Given the description of an element on the screen output the (x, y) to click on. 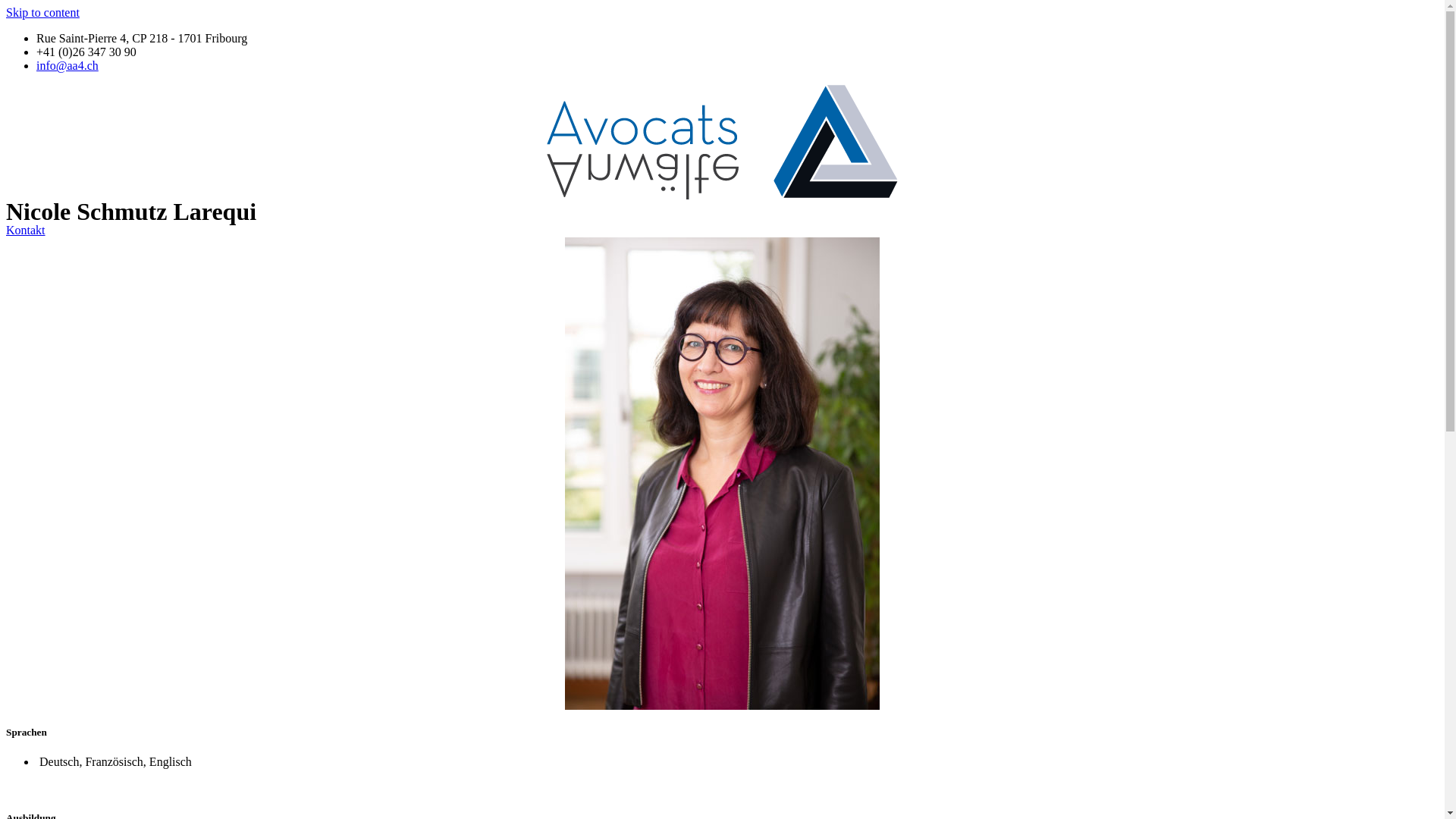
Skip to content Element type: text (42, 12)
Kontakt Element type: text (25, 229)
info@aa4.ch Element type: text (67, 65)
